Given the description of an element on the screen output the (x, y) to click on. 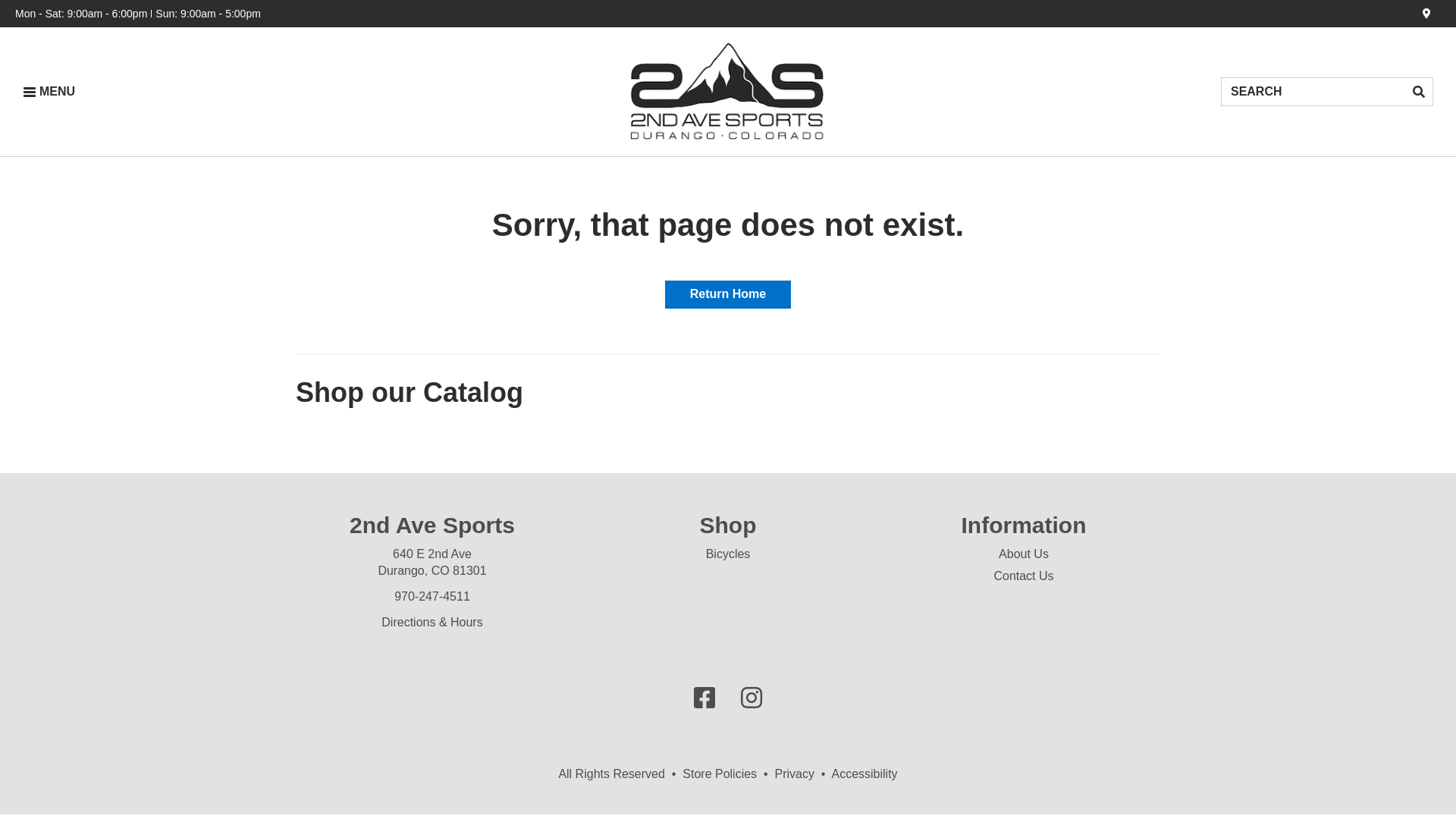
Return Home Element type: text (727, 294)
Instagram Element type: text (751, 698)
Toggle navigation
MENU Element type: text (49, 91)
About Us Element type: text (1023, 553)
Store Element type: text (1426, 13)
Facebook Element type: text (704, 698)
Store Policies Element type: text (719, 773)
Accessibility Element type: text (864, 773)
Privacy Element type: text (794, 773)
Contact Us Element type: text (1023, 575)
2nd Ave Sports Home Page Element type: hover (727, 91)
Bicycles Element type: text (728, 553)
Directions & Hours Element type: text (431, 621)
Search Element type: hover (1313, 91)
970-247-4511 Element type: text (432, 595)
Search Element type: text (1418, 91)
